Given the description of an element on the screen output the (x, y) to click on. 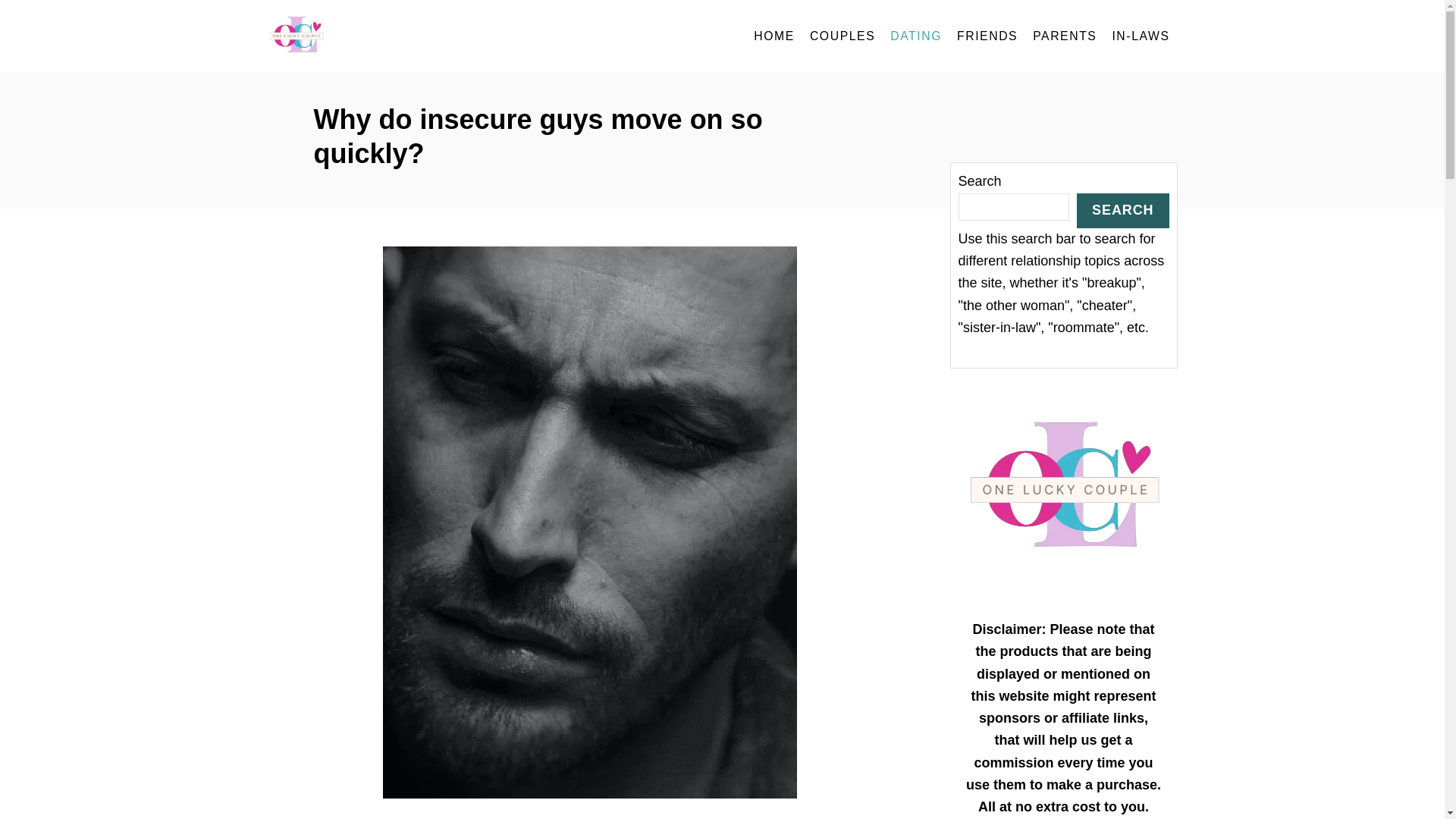
SEARCH (1123, 209)
FRIENDS (987, 36)
PARENTS (1064, 36)
OLC (403, 36)
DATING (915, 36)
HOME (773, 36)
COUPLES (842, 36)
IN-LAWS (1139, 36)
